Given the description of an element on the screen output the (x, y) to click on. 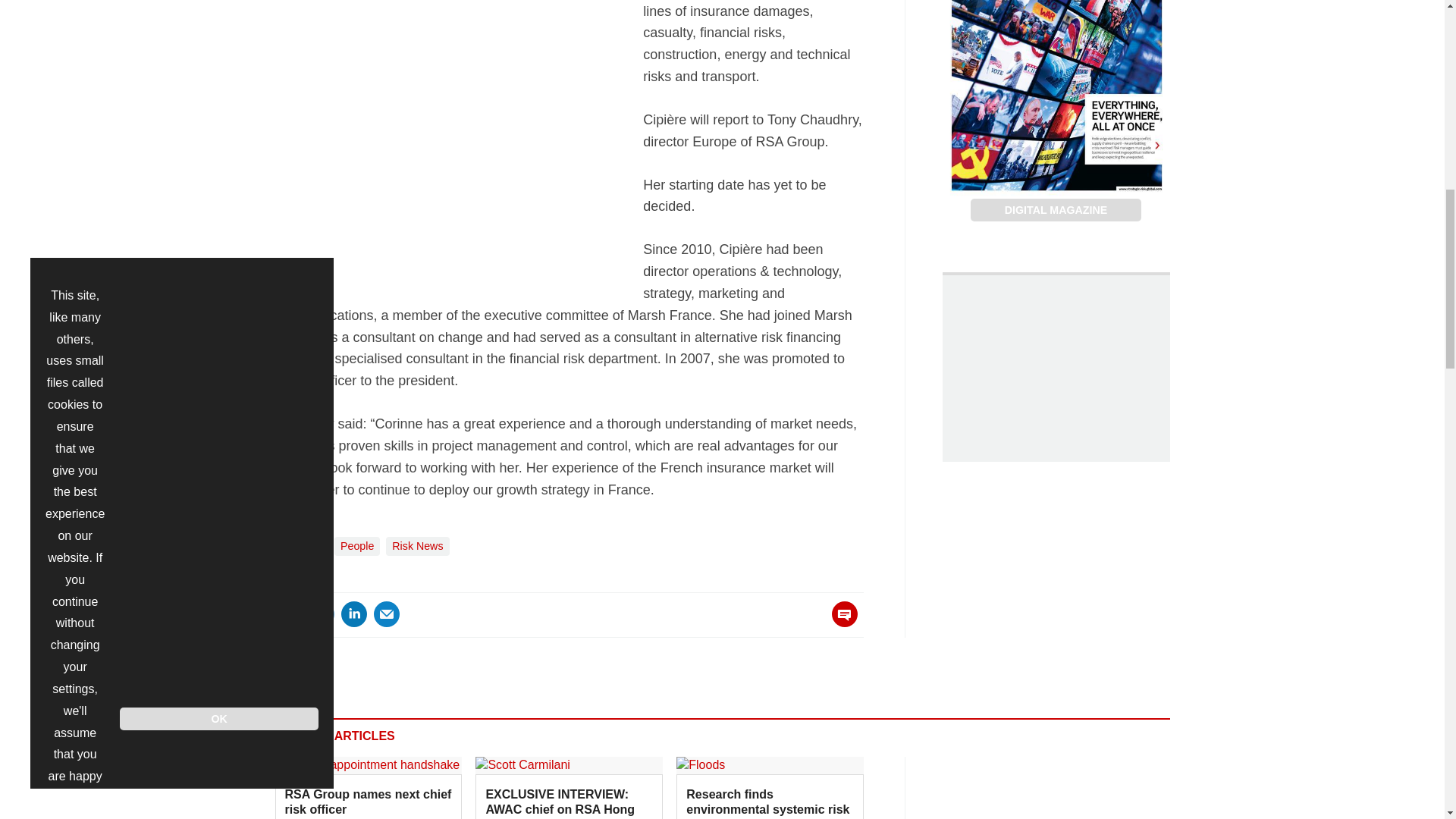
Cookie Policy (75, 77)
Share this on Linked in (352, 614)
Share this on Facebook (288, 614)
Email this article (386, 614)
No comments (840, 622)
Share this on Twitter (320, 614)
